Given the description of an element on the screen output the (x, y) to click on. 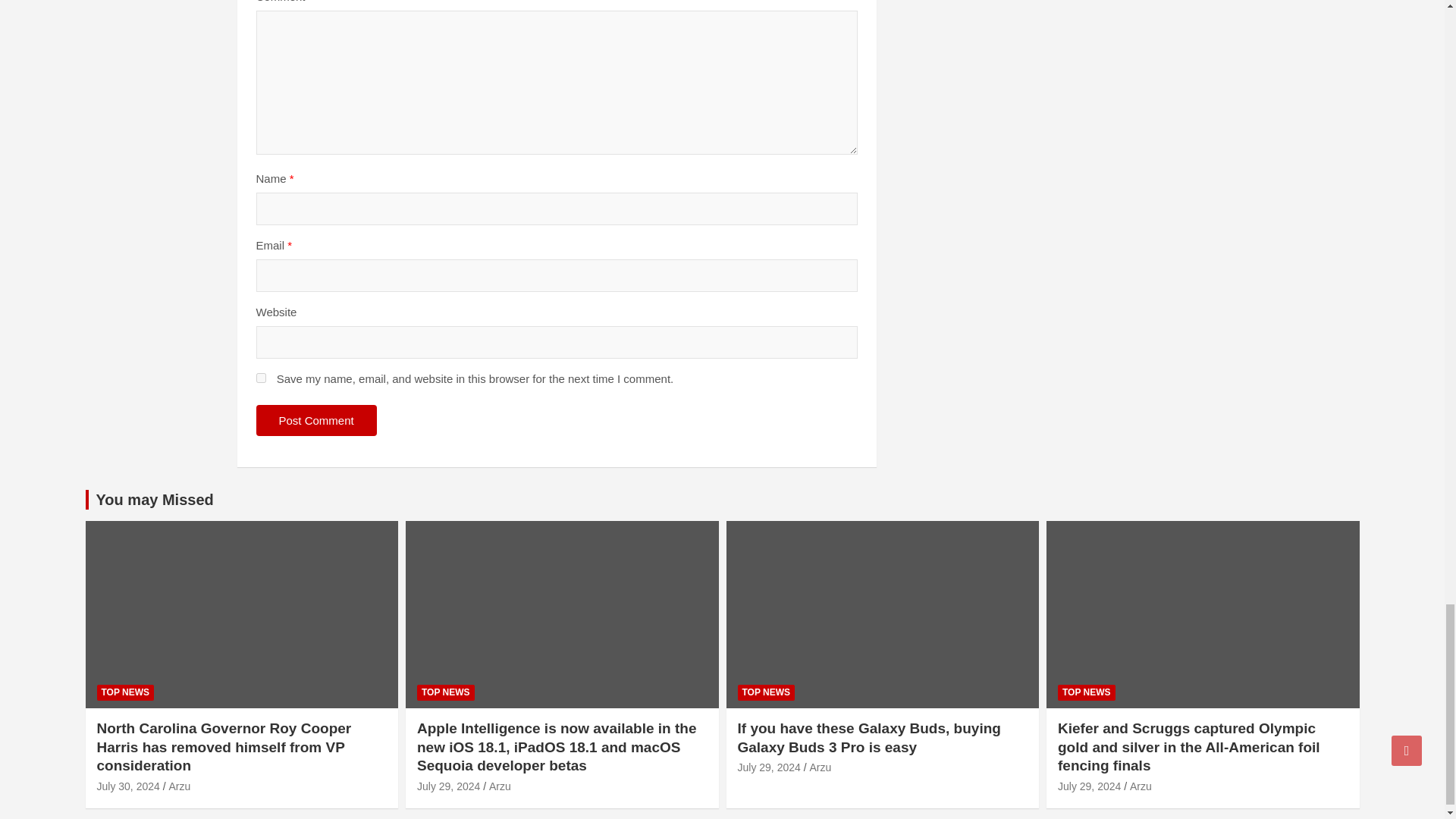
Post Comment (316, 419)
yes (261, 378)
Post Comment (316, 419)
